Given the description of an element on the screen output the (x, y) to click on. 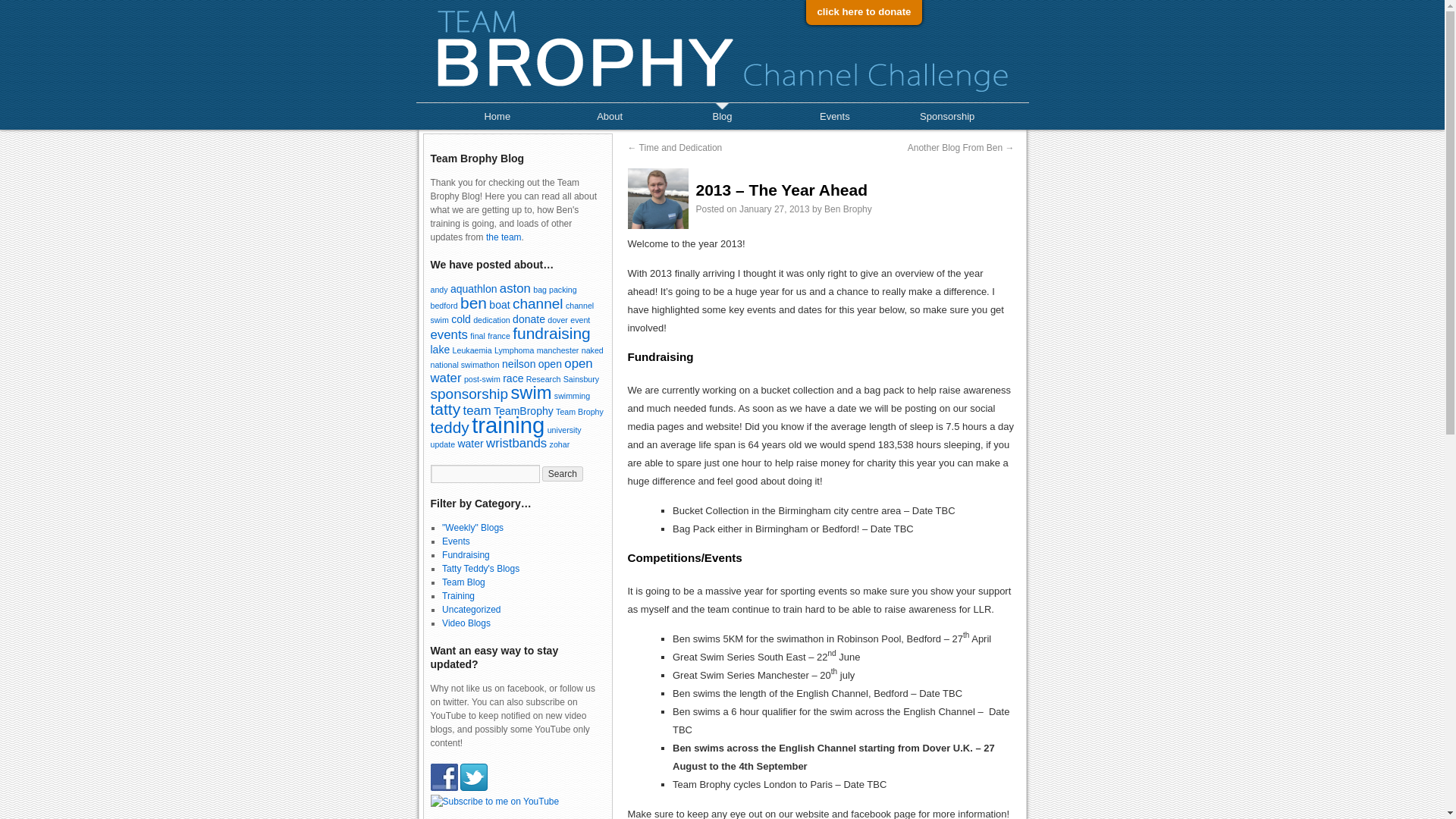
andy (439, 289)
the team (503, 236)
channel (537, 303)
boat (499, 304)
cold (460, 318)
January 27, 2013 (774, 208)
About (610, 116)
channel swim (512, 312)
aquathlon (473, 288)
aston (515, 288)
